Given the description of an element on the screen output the (x, y) to click on. 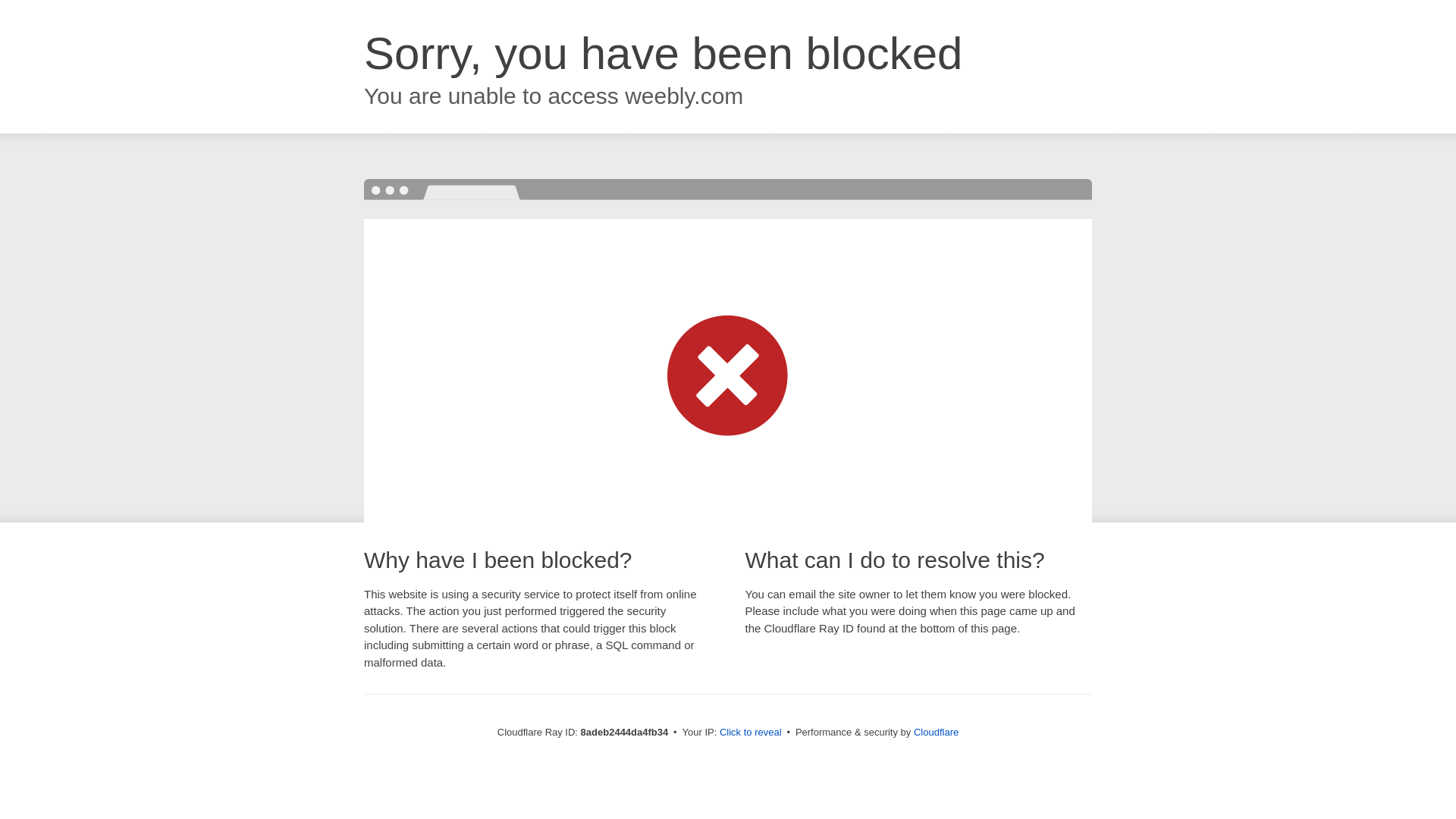
Cloudflare (936, 731)
Click to reveal (750, 732)
